Given the description of an element on the screen output the (x, y) to click on. 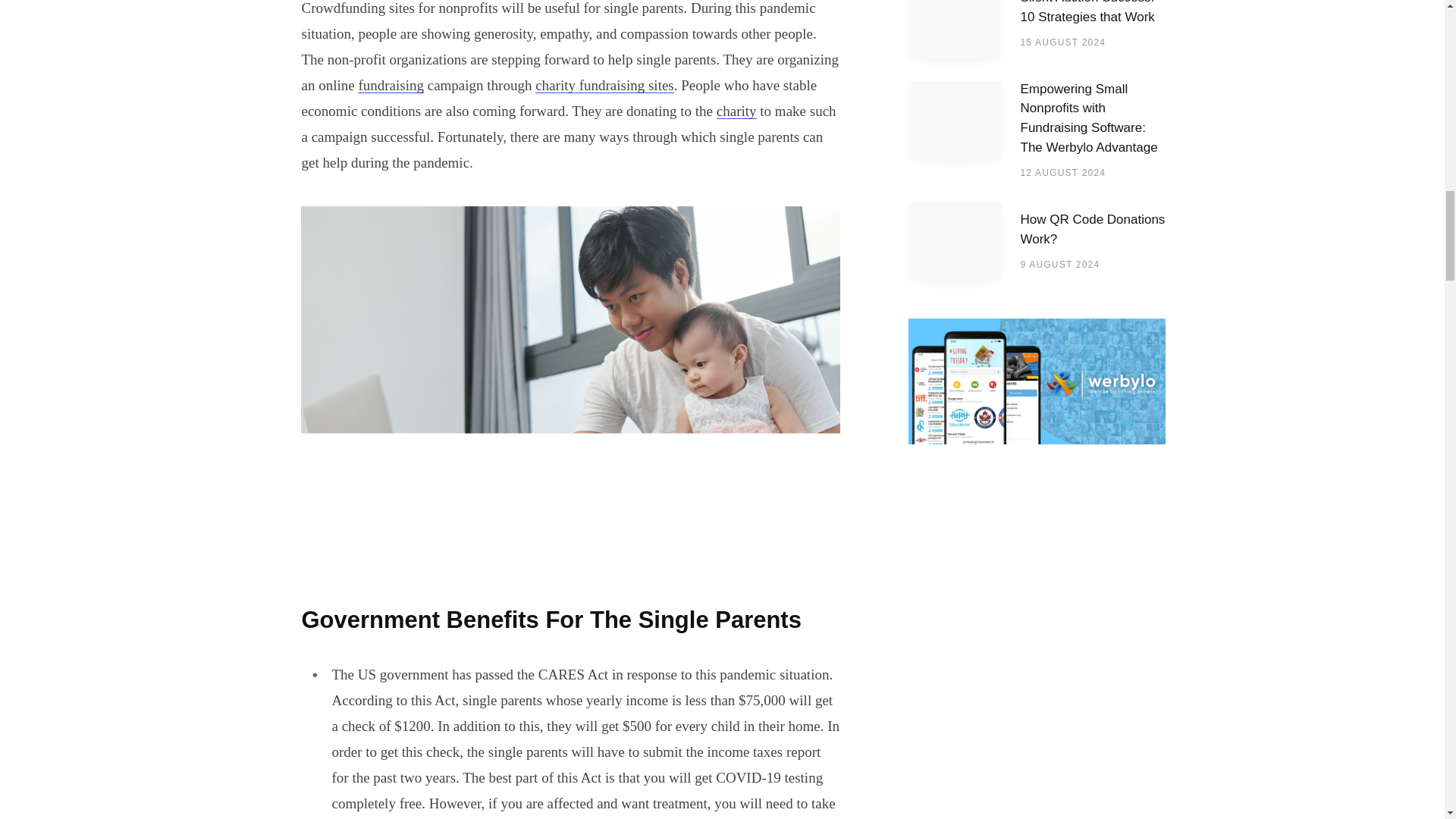
fundraising (390, 84)
charity (736, 110)
charity fundraising sites (604, 84)
